Given the description of an element on the screen output the (x, y) to click on. 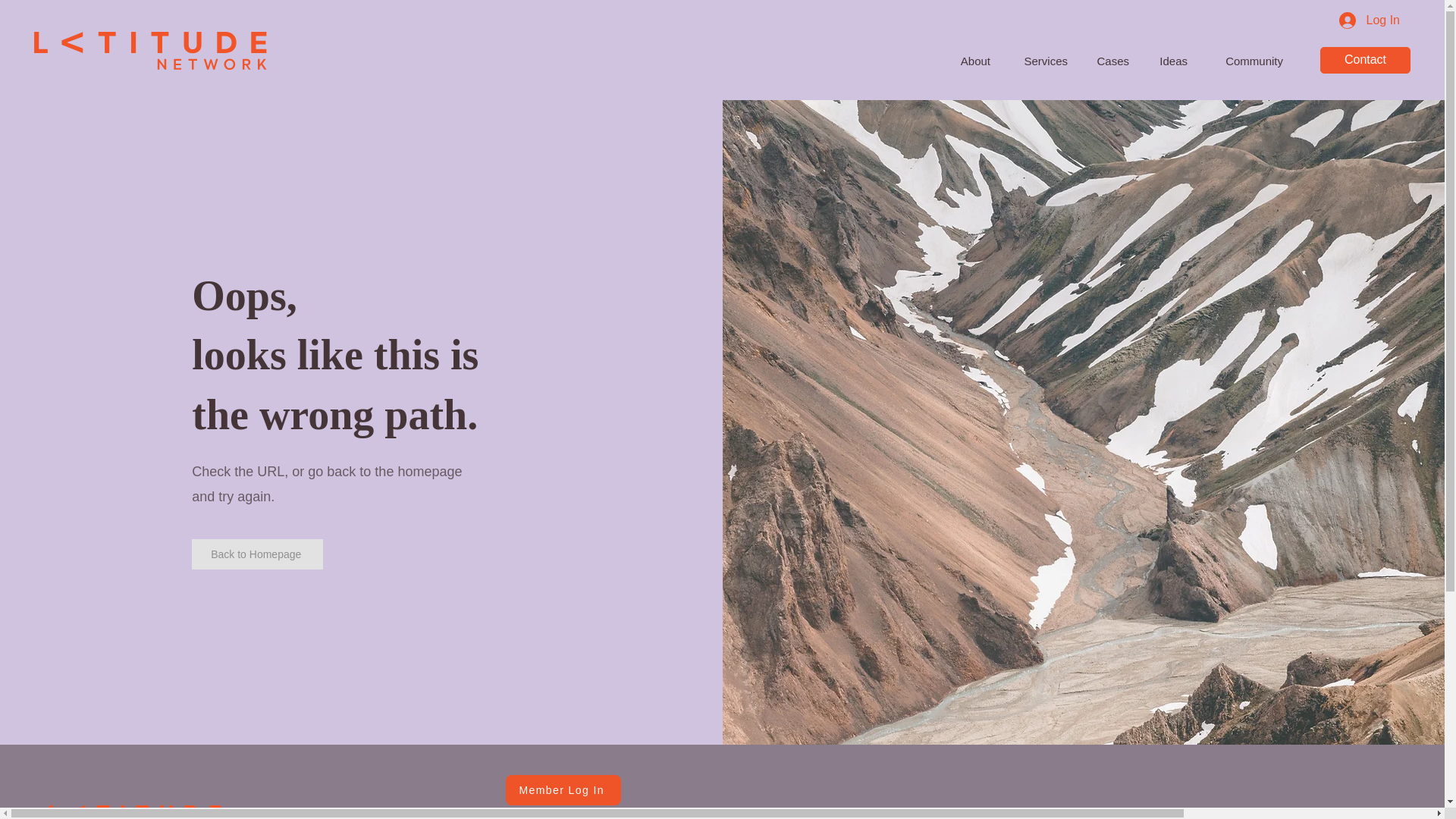
Member Log In (563, 789)
Contact (1365, 59)
Back to Homepage (257, 553)
Log In (1368, 20)
Community (1249, 54)
About (972, 54)
Ideas (1171, 54)
Services (1042, 54)
